Given the description of an element on the screen output the (x, y) to click on. 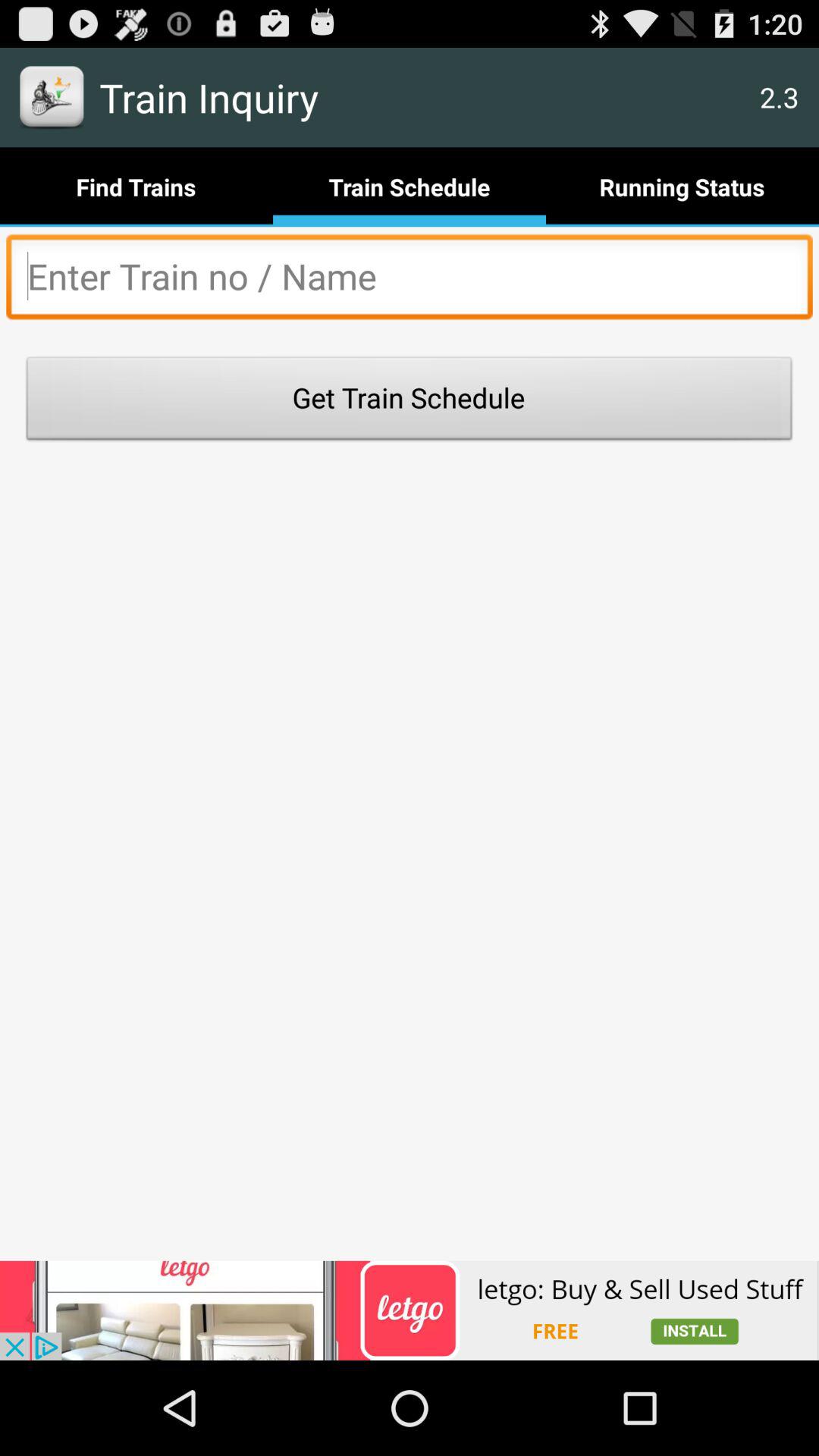
watch advertisement (409, 1310)
